Given the description of an element on the screen output the (x, y) to click on. 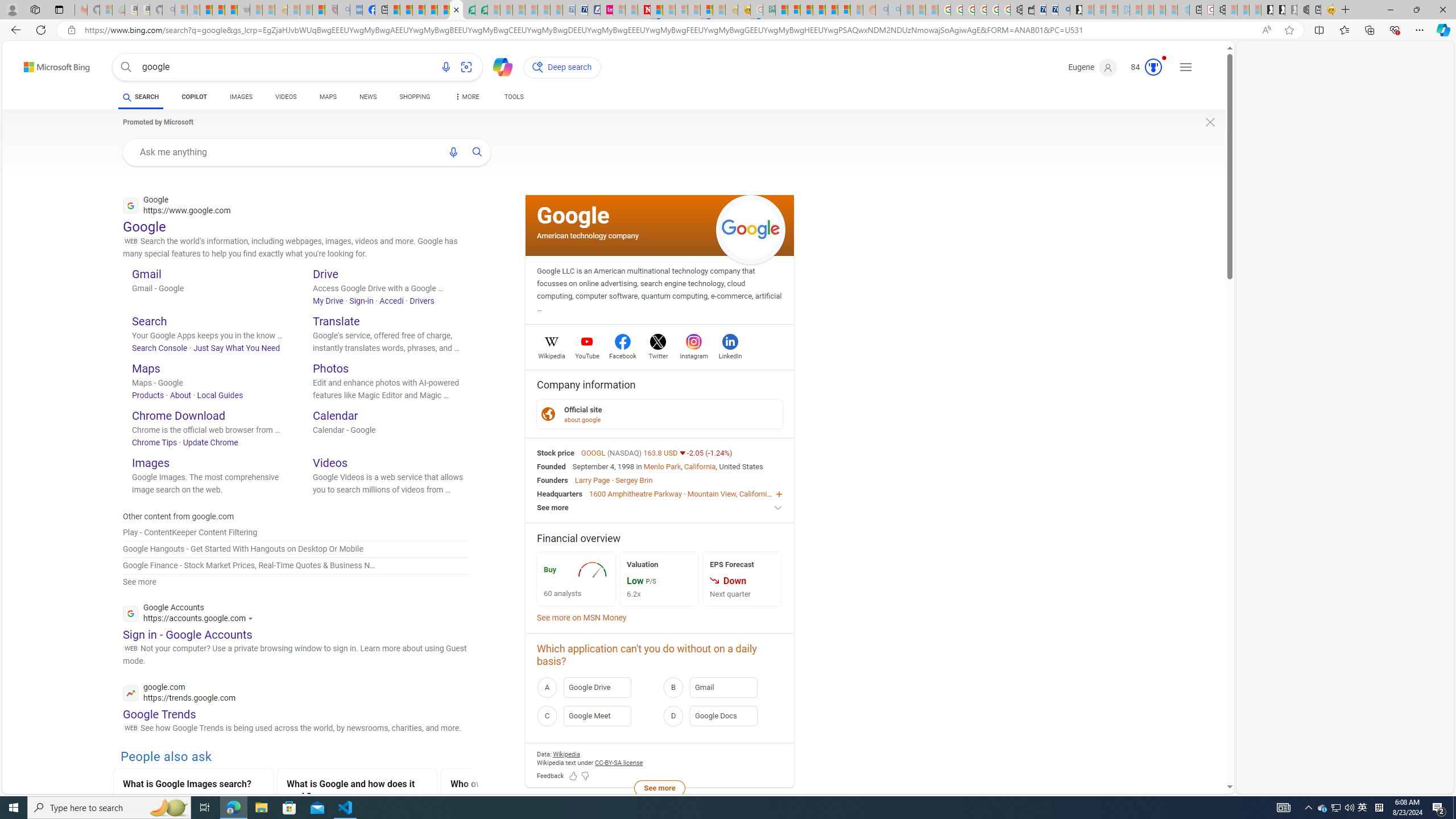
Translate (336, 320)
Headquarters (559, 492)
Class: rms_img (714, 579)
Search Console (159, 347)
Settings and quick links (1185, 67)
Chat (497, 65)
163.8 USD  (661, 452)
SEARCH (140, 96)
